Given the description of an element on the screen output the (x, y) to click on. 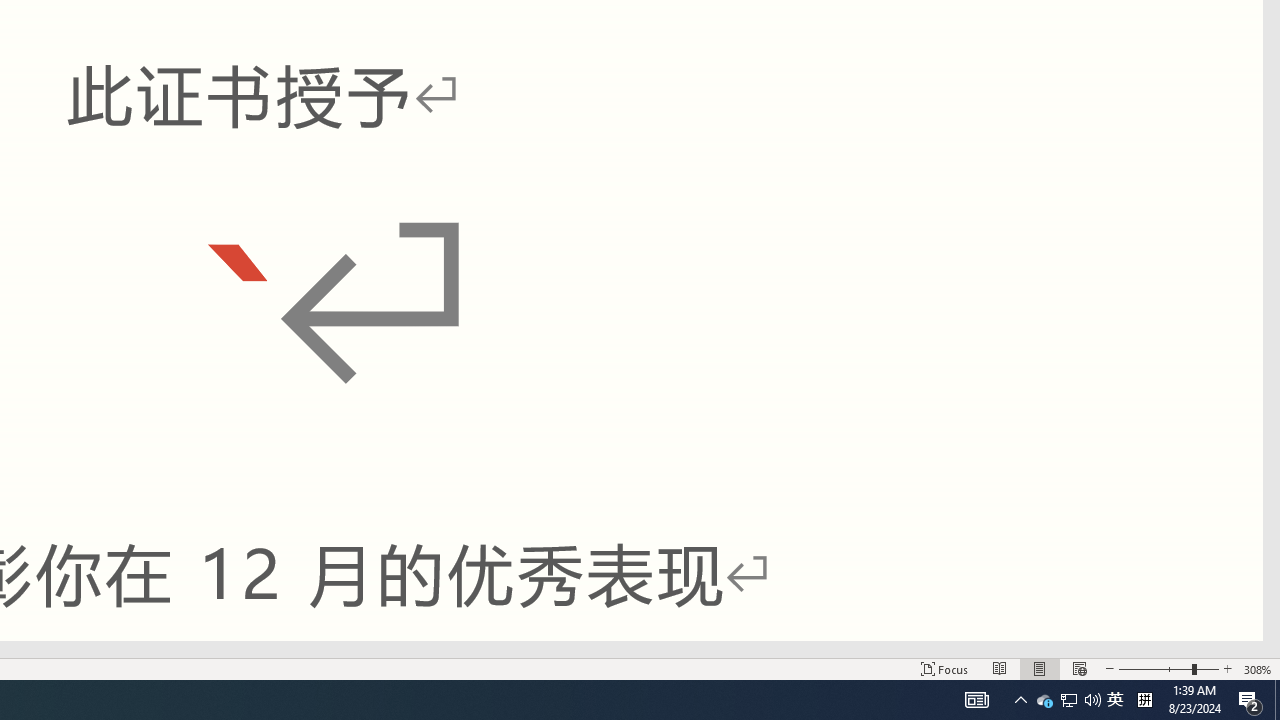
User Promoted Notification Area (1068, 699)
Tray Input Indicator - Chinese (Simplified, China) (1144, 699)
